Given the description of an element on the screen output the (x, y) to click on. 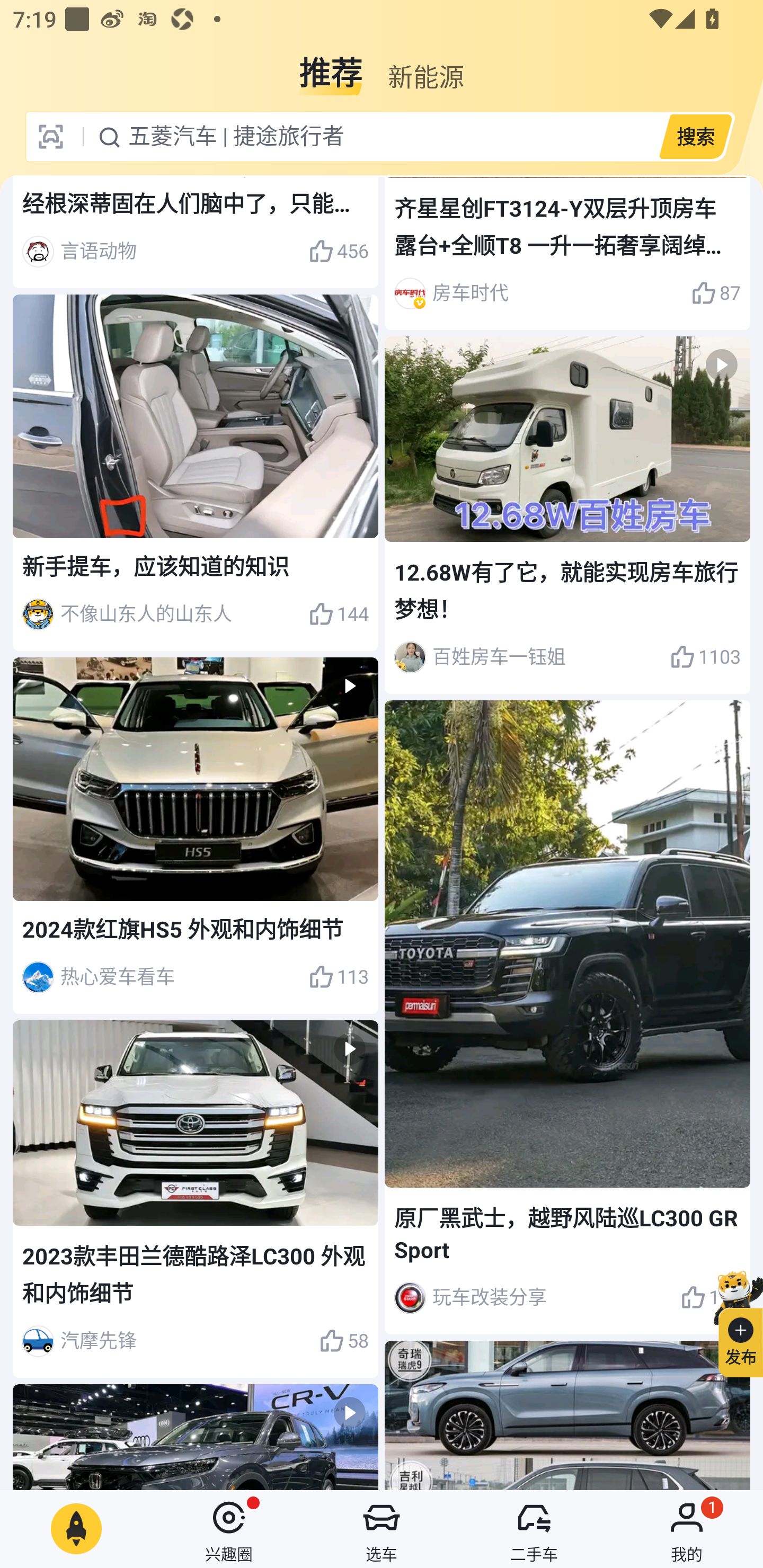
推荐 (330, 65)
新能源 (425, 65)
搜索 (695, 136)
齐星星创FT3124-Y双层升顶房车 露台+全顺T8 一升一拓奢享阔绰空间 房车时代 87 (567, 253)
456 (338, 251)
87 (715, 292)
新手提车，应该知道的知识 不像山东人的山东人 144 (195, 472)
 12.68W有了它，就能实现房车旅行梦想！ 百姓房车一钰姐 1103 (567, 515)
144 (338, 614)
1103 (704, 656)
 2024款红旗HS5 外观和内饰细节 热心爱车看车 113 (195, 835)
原厂黑武士，越野风陆巡LC300 GR Sport 玩车改装分享 197 (567, 1017)
113 (338, 977)
 2023款丰田兰德酷路泽LC300 外观和内饰细节 汽摩先锋 58 (195, 1199)
发布 (732, 1321)
197 (710, 1297)
58 (343, 1341)
 (195, 1436)
 兴趣圈 (228, 1528)
 选车 (381, 1528)
 二手车 (533, 1528)
 我的 (686, 1528)
